Given the description of an element on the screen output the (x, y) to click on. 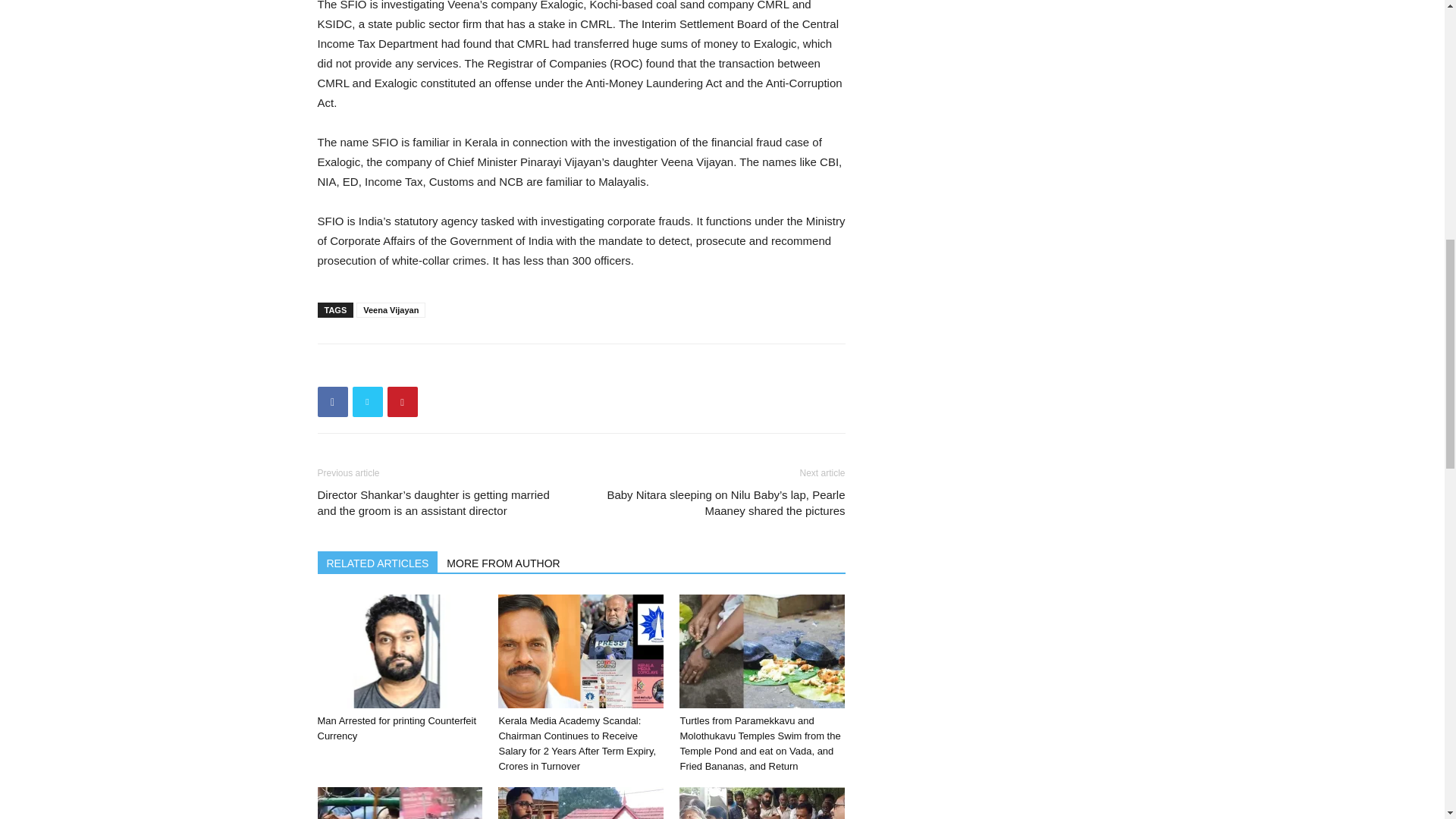
Man Arrested for printing Counterfeit Currency (399, 651)
Man Arrested for printing Counterfeit Currency (396, 728)
